Given the description of an element on the screen output the (x, y) to click on. 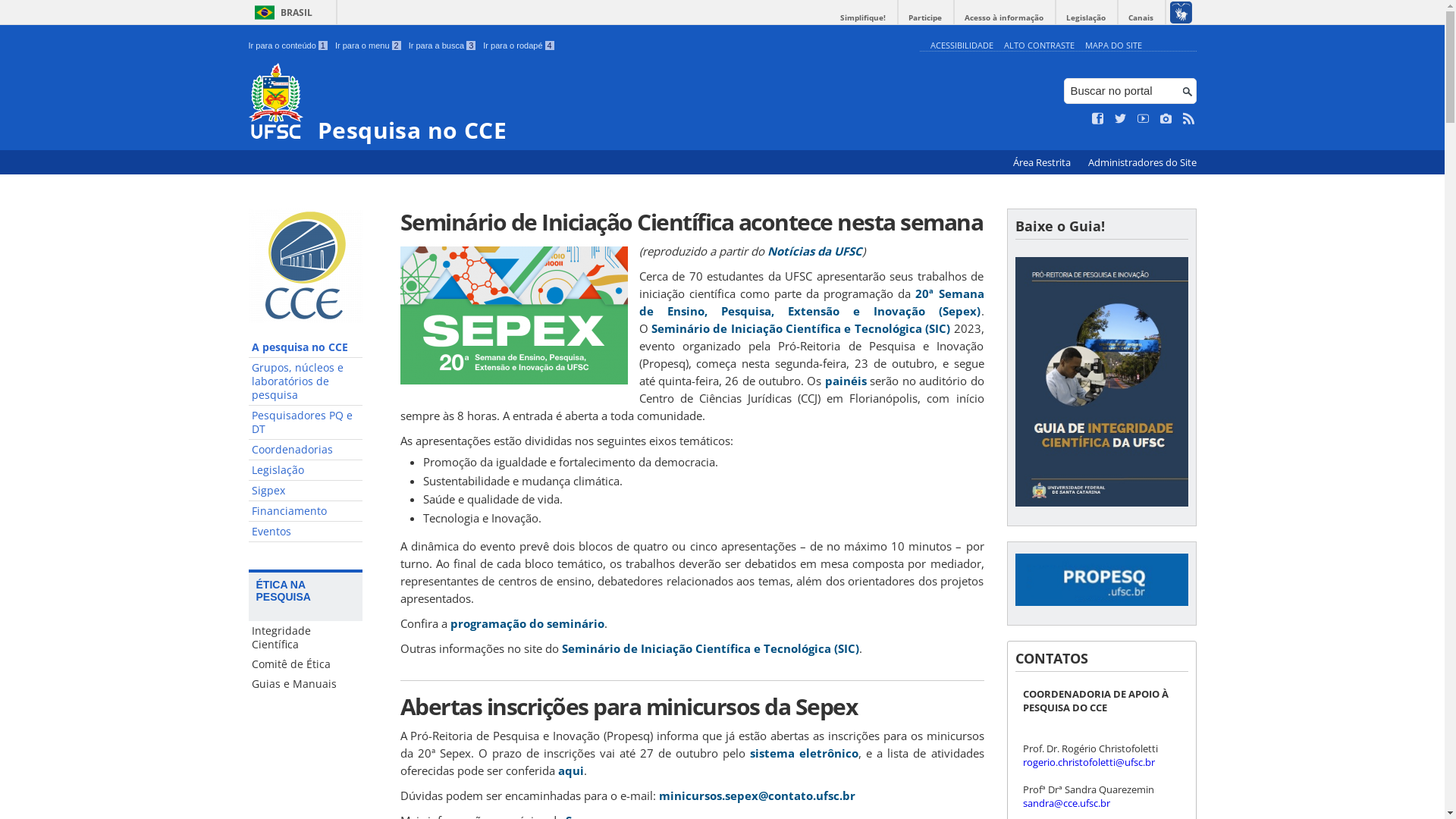
Ir para a busca 3 Element type: text (442, 45)
Participe Element type: text (924, 18)
A pesquisa no CCE Element type: text (305, 347)
Pesquisadores PQ e DT Element type: text (305, 422)
Ir para o menu 2 Element type: text (368, 45)
ALTO CONTRASTE Element type: text (1039, 44)
Canais Element type: text (1140, 18)
rogerio.christofoletti@ufsc.br Element type: text (1088, 761)
BRASIL Element type: text (280, 12)
aqui Element type: text (570, 770)
Guias e Manuais Element type: text (305, 683)
Sigpex Element type: text (305, 490)
Simplifique! Element type: text (862, 18)
MAPA DO SITE Element type: text (1112, 44)
Curta no Facebook Element type: hover (1098, 118)
Veja no Instagram Element type: hover (1166, 118)
Eventos Element type: text (305, 531)
sandra@cce.ufsc.br Element type: text (1065, 802)
Pesquisa no CCE Element type: text (580, 102)
Administradores do Site Element type: text (1141, 162)
minicursos.sepex@contato.ufsc.br Element type: text (756, 795)
Coordenadorias Element type: text (305, 449)
Financiamento Element type: text (305, 511)
ACESSIBILIDADE Element type: text (960, 44)
Siga no Twitter Element type: hover (1120, 118)
